Given the description of an element on the screen output the (x, y) to click on. 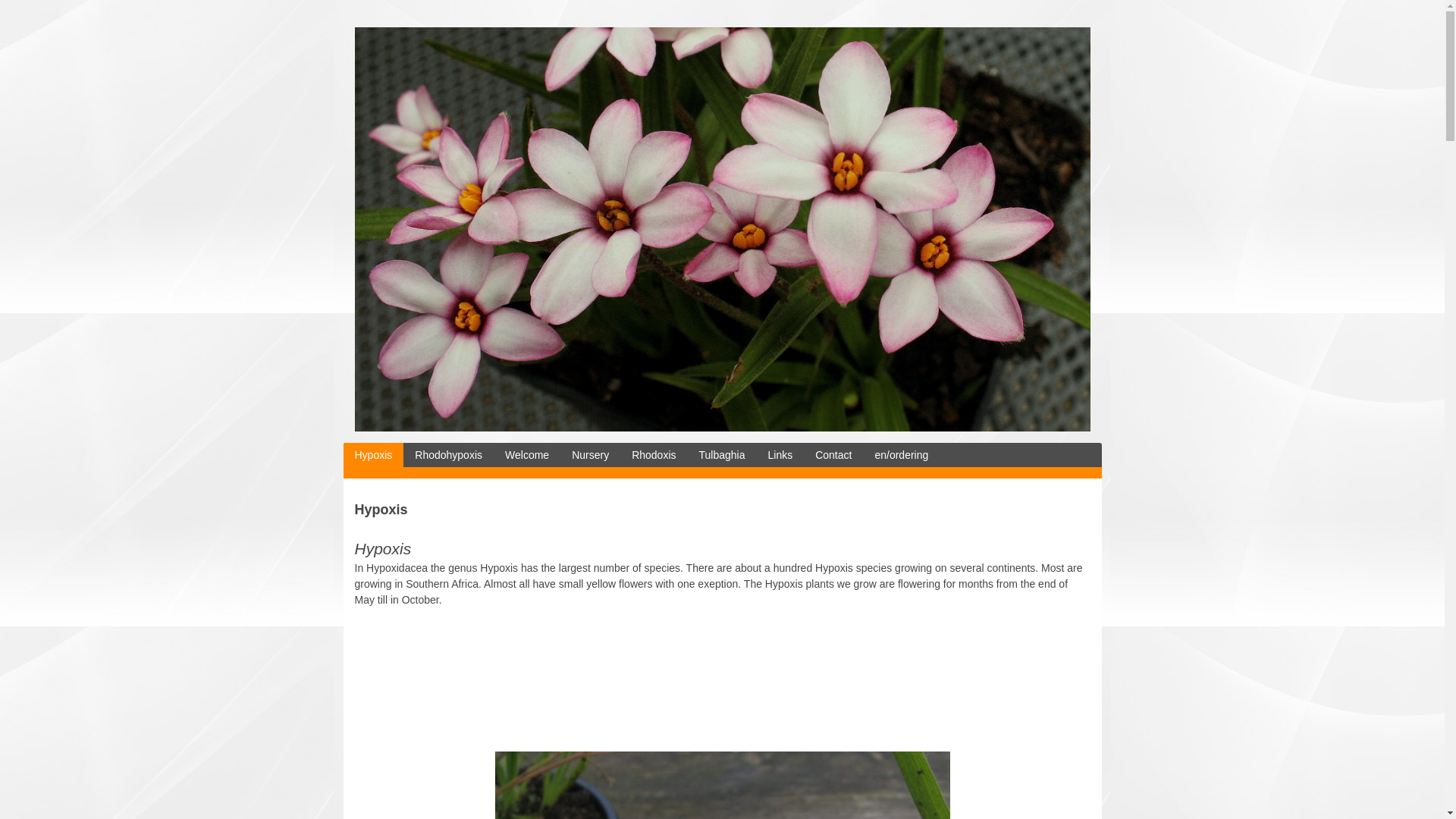
Welcome (526, 454)
Contact (833, 454)
Rhodohypoxis (448, 454)
Nursery (590, 454)
Kwekerij Jaap Duijs (722, 427)
Links (781, 454)
Hypoxis (372, 454)
Rhodoxis (653, 454)
Tulbaghia (722, 454)
